Given the description of an element on the screen output the (x, y) to click on. 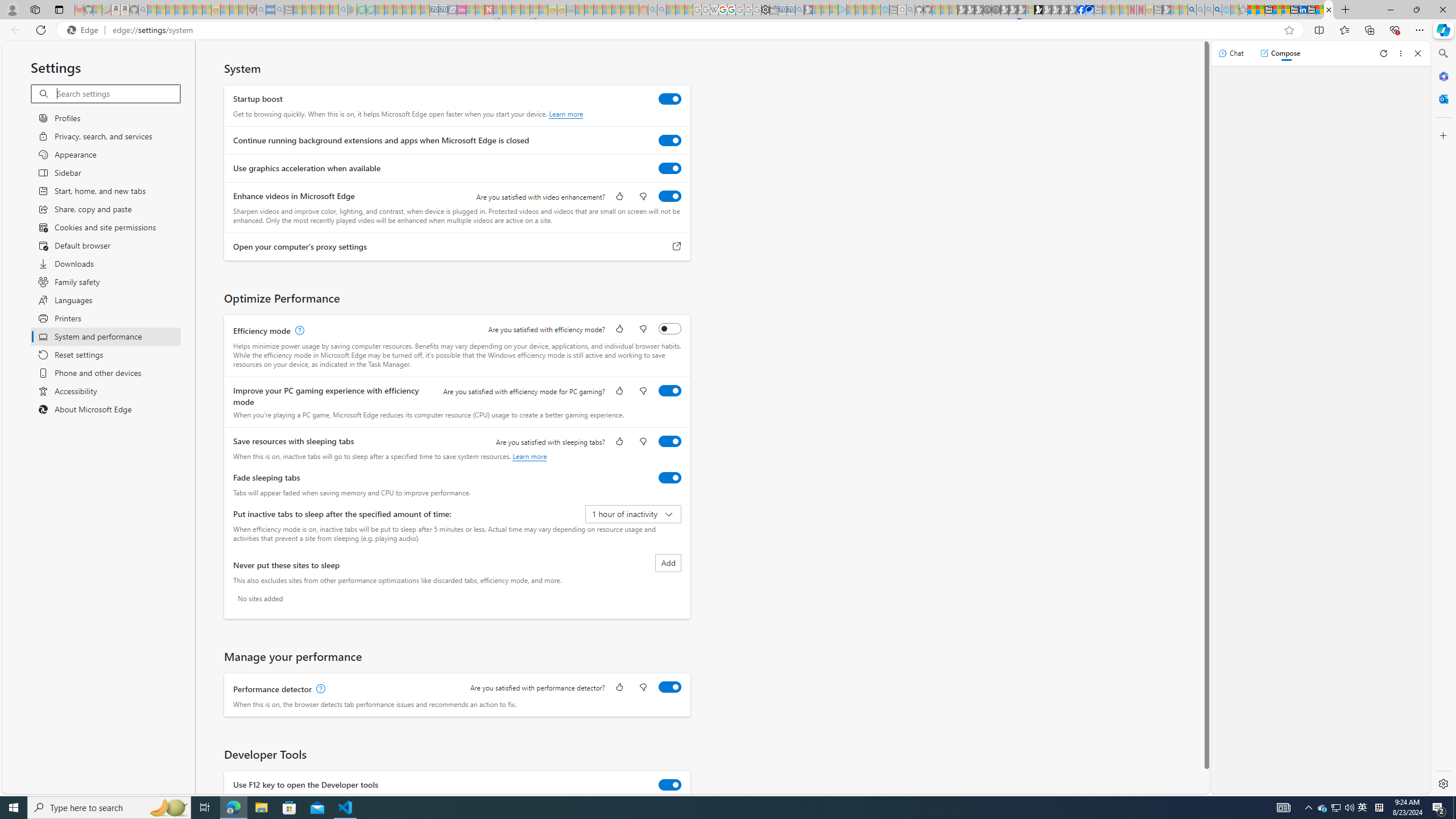
Sign in to your account - Sleeping (1029, 9)
Startup boost (669, 98)
Like (619, 687)
Edge (84, 29)
Efficiency mode, learn more (298, 330)
Save resources with sleeping tabs (669, 441)
